Given the description of an element on the screen output the (x, y) to click on. 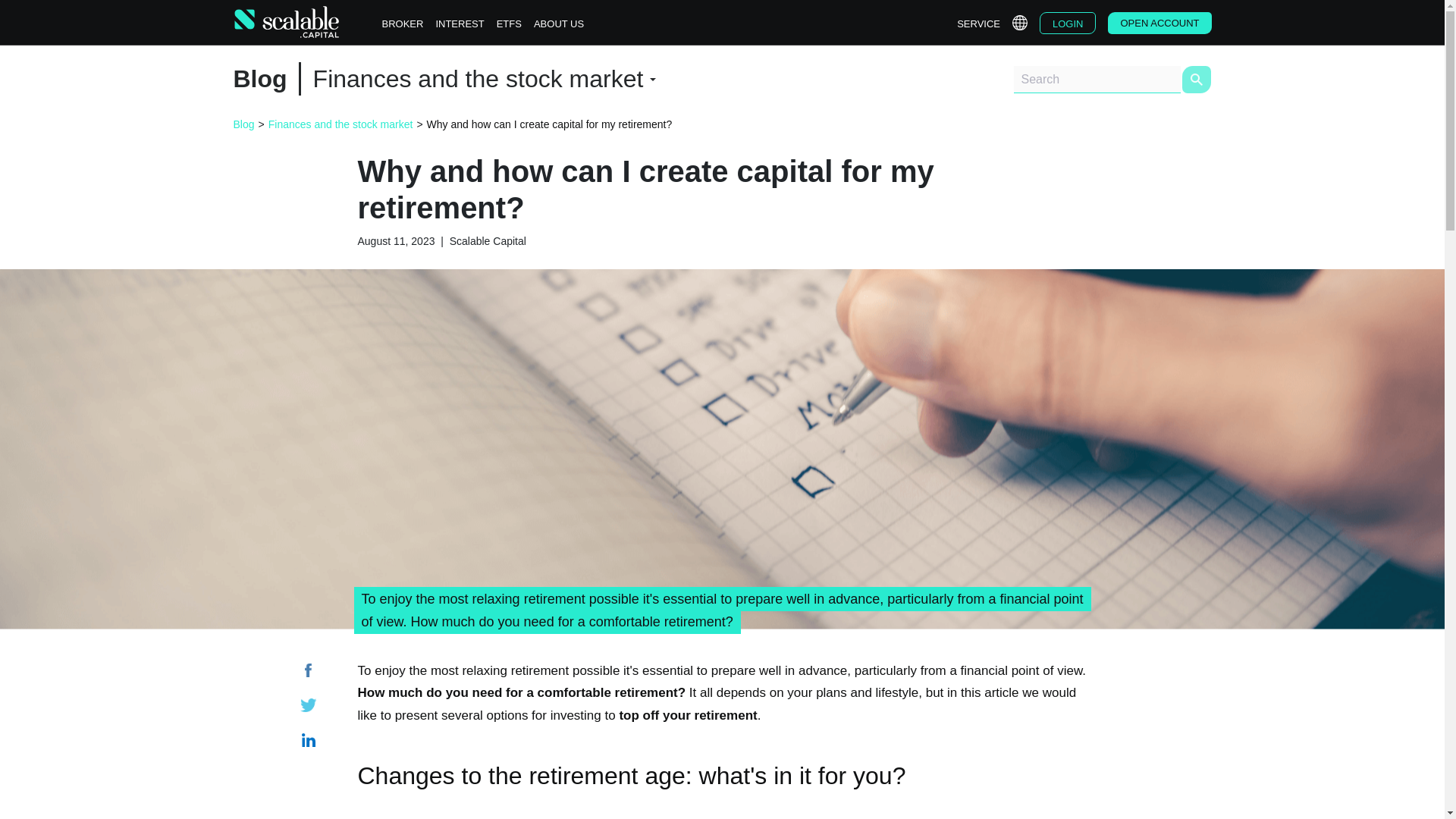
Finances and the stock market (484, 78)
LOGIN (1067, 23)
INTEREST (459, 23)
Finances and the stock market (340, 123)
Blog (259, 78)
OPEN ACCOUNT (1158, 23)
ABOUT US (558, 23)
BROKER (402, 23)
SERVICE (978, 23)
Blog (243, 123)
